Given the description of an element on the screen output the (x, y) to click on. 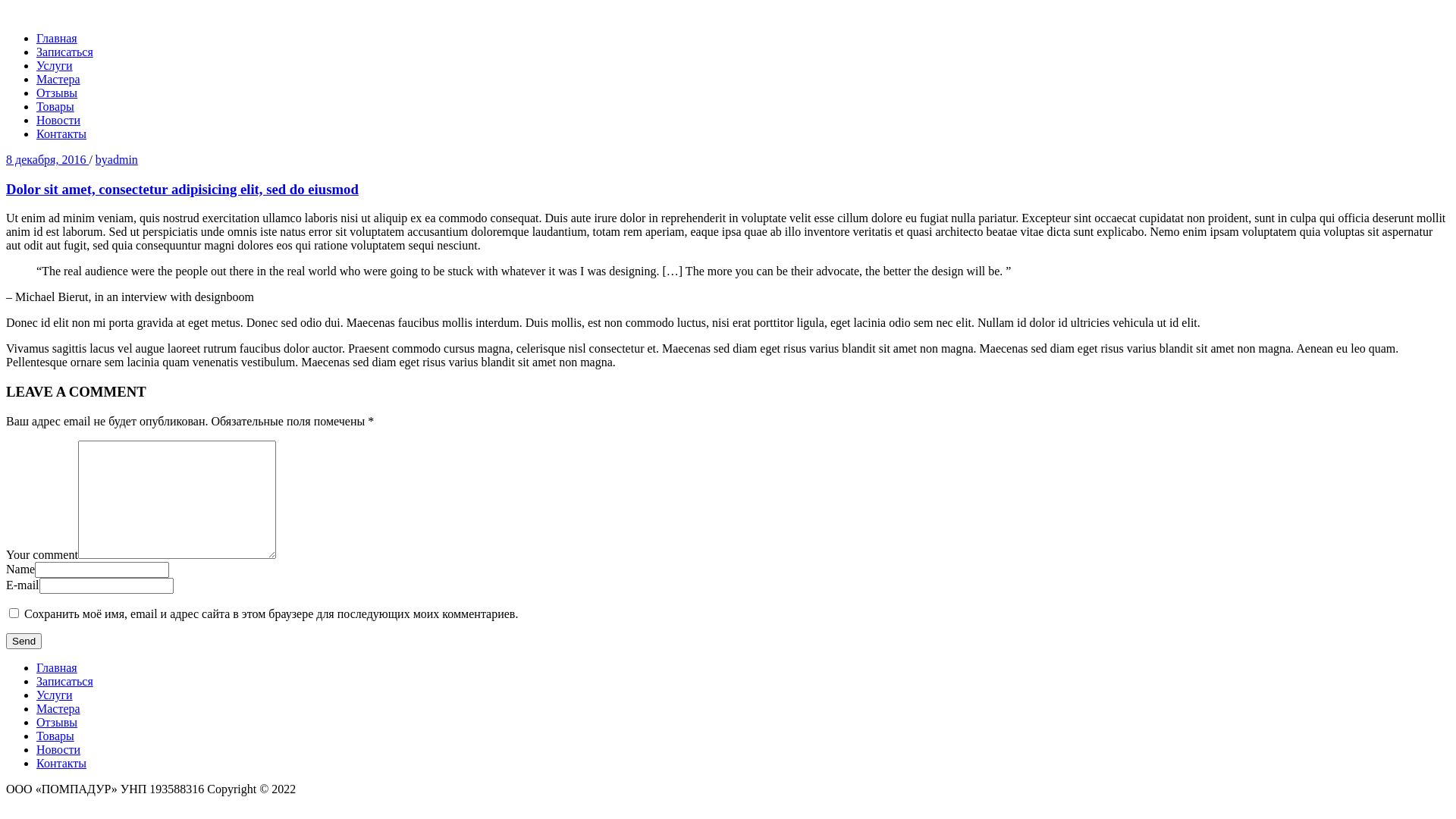
byadmin Element type: text (116, 159)
Send Element type: text (23, 641)
Dolor sit amet, consectetur adipisicing elit, sed do eiusmod Element type: text (727, 203)
